Given the description of an element on the screen output the (x, y) to click on. 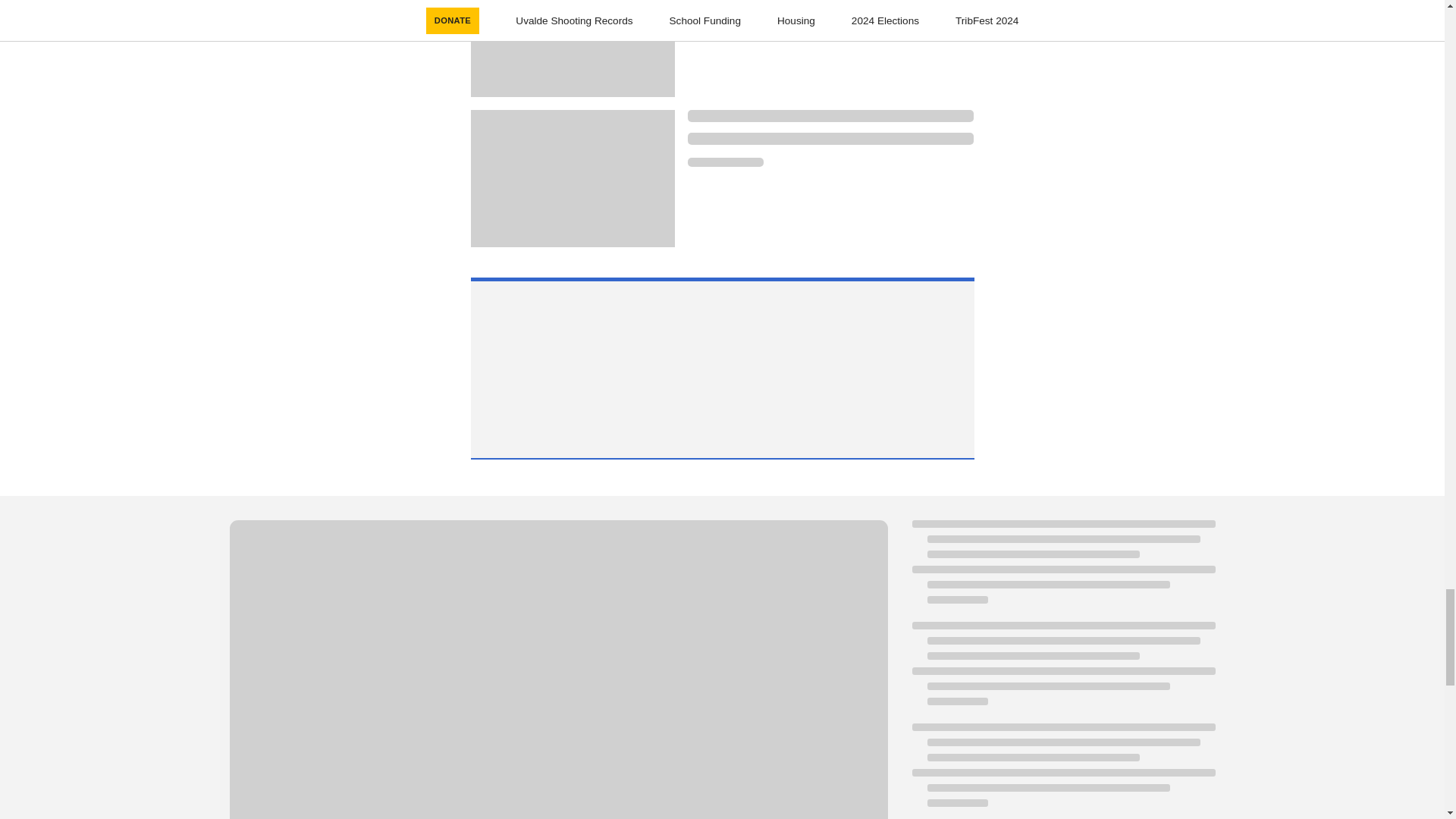
Loading indicator (724, 162)
Loading indicator (830, 138)
Loading indicator (830, 115)
Loading indicator (724, 11)
